Given the description of an element on the screen output the (x, y) to click on. 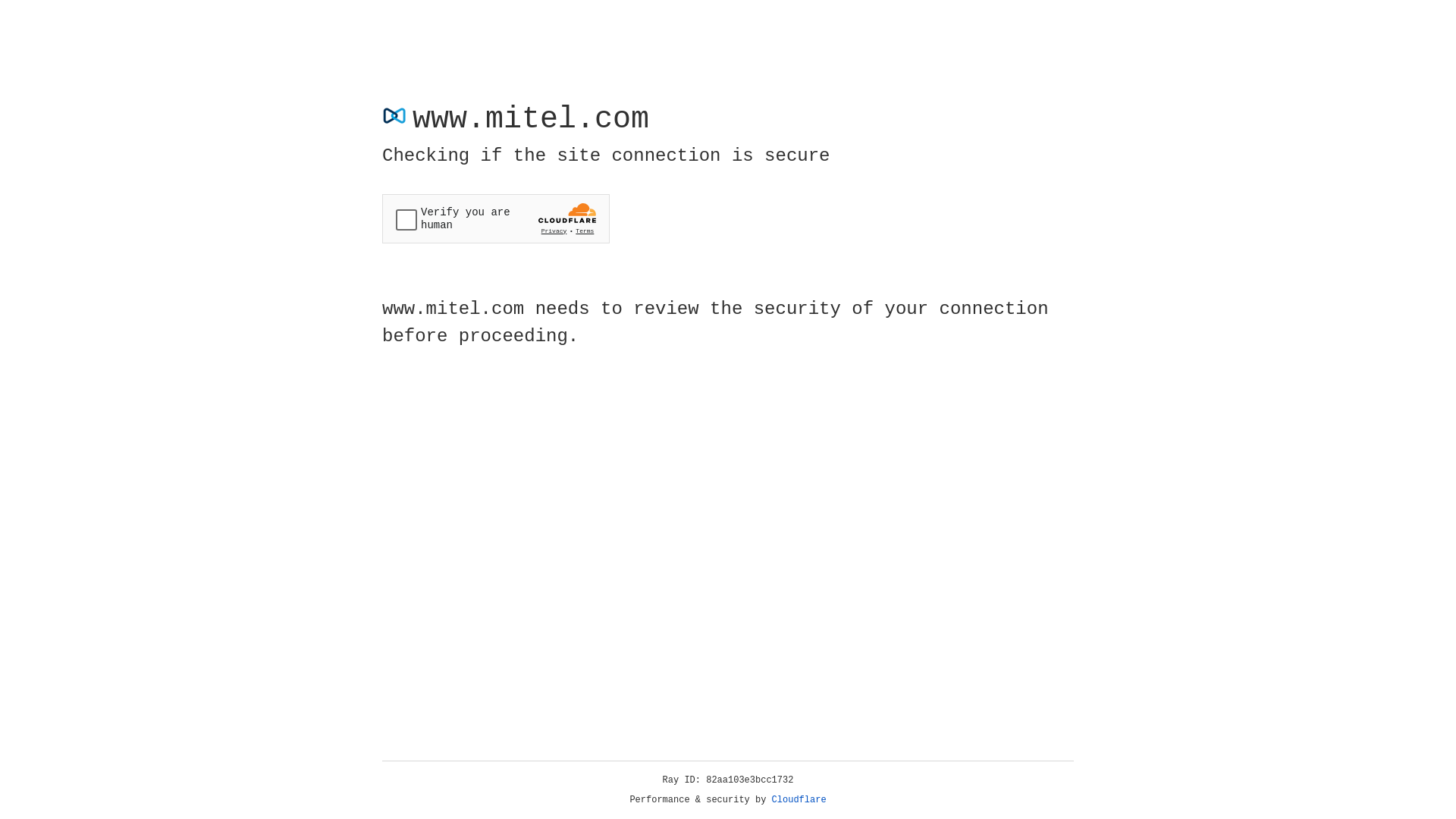
Cloudflare Element type: text (798, 799)
Widget containing a Cloudflare security challenge Element type: hover (495, 218)
